Given the description of an element on the screen output the (x, y) to click on. 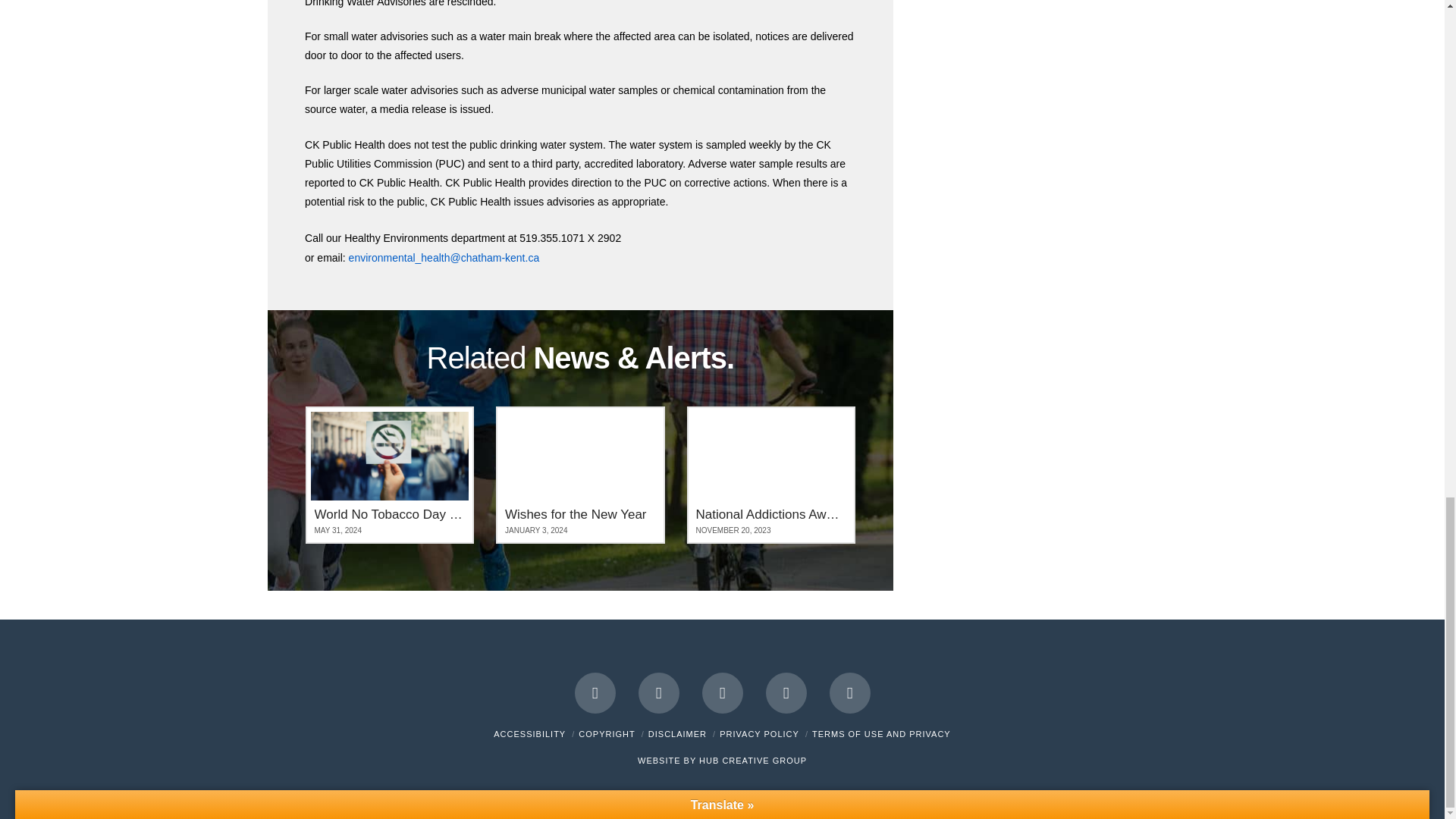
YouTube (721, 692)
Permalink to: "World No Tobacco Day 2024" (389, 474)
RSS (849, 692)
HUB Creative Group (752, 759)
Instagram (785, 692)
Facebook (595, 692)
Permalink to: "Wishes for the New Year" (580, 474)
Permalink to: "National Addictions Awareness Week 2023" (771, 474)
